Given the description of an element on the screen output the (x, y) to click on. 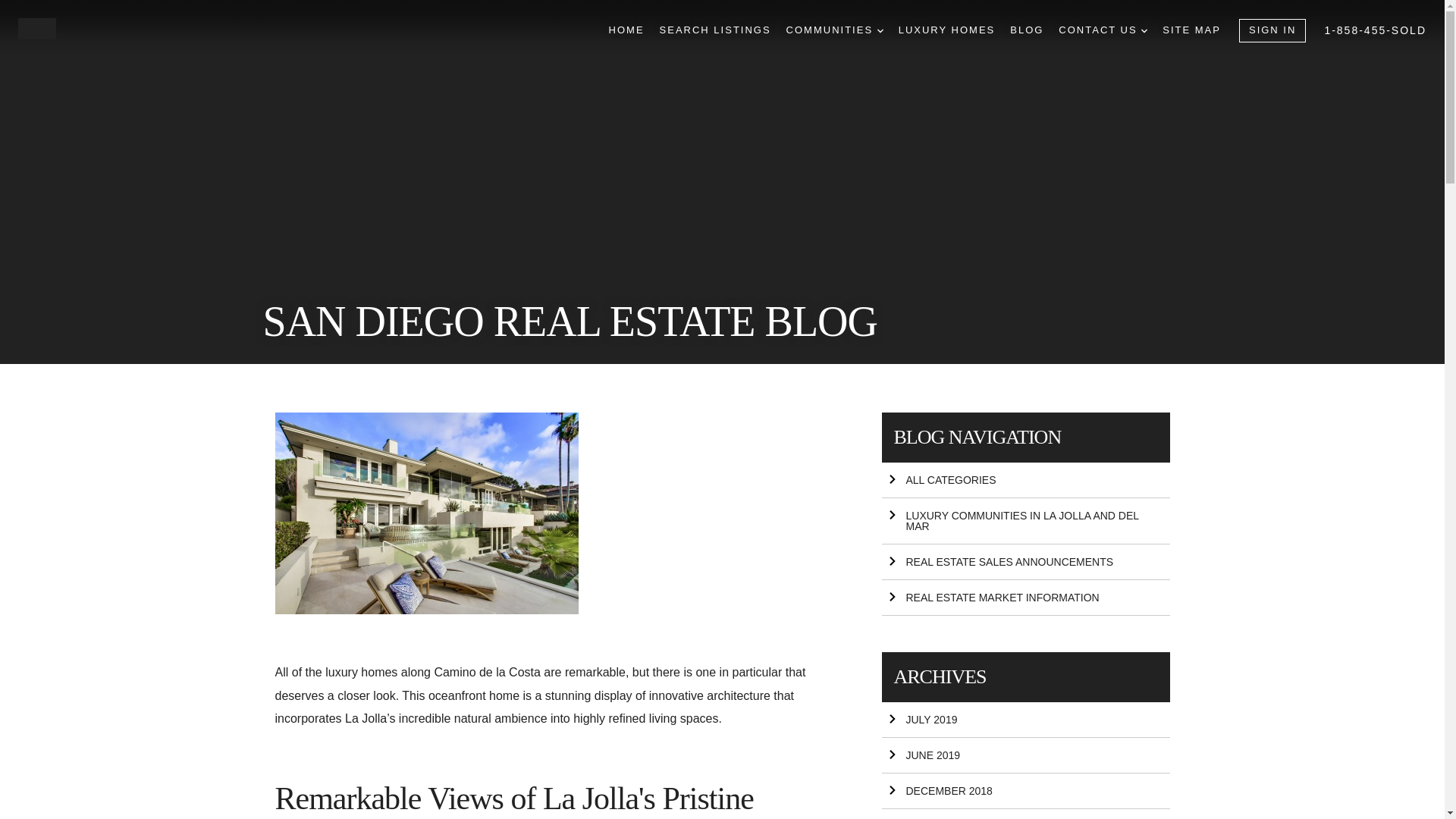
HOME (626, 30)
COMMUNITIES DROPDOWN ARROW (834, 30)
SEARCH LISTINGS (715, 30)
DROPDOWN ARROW (1144, 30)
ALL CATEGORIES (1024, 479)
CONTACT US DROPDOWN ARROW (1102, 30)
LUXURY COMMUNITIES IN LA JOLLA AND DEL MAR (1024, 520)
BLOG (1026, 30)
1-858-455-SOLD (1374, 29)
SIGN IN (1272, 30)
